Given the description of an element on the screen output the (x, y) to click on. 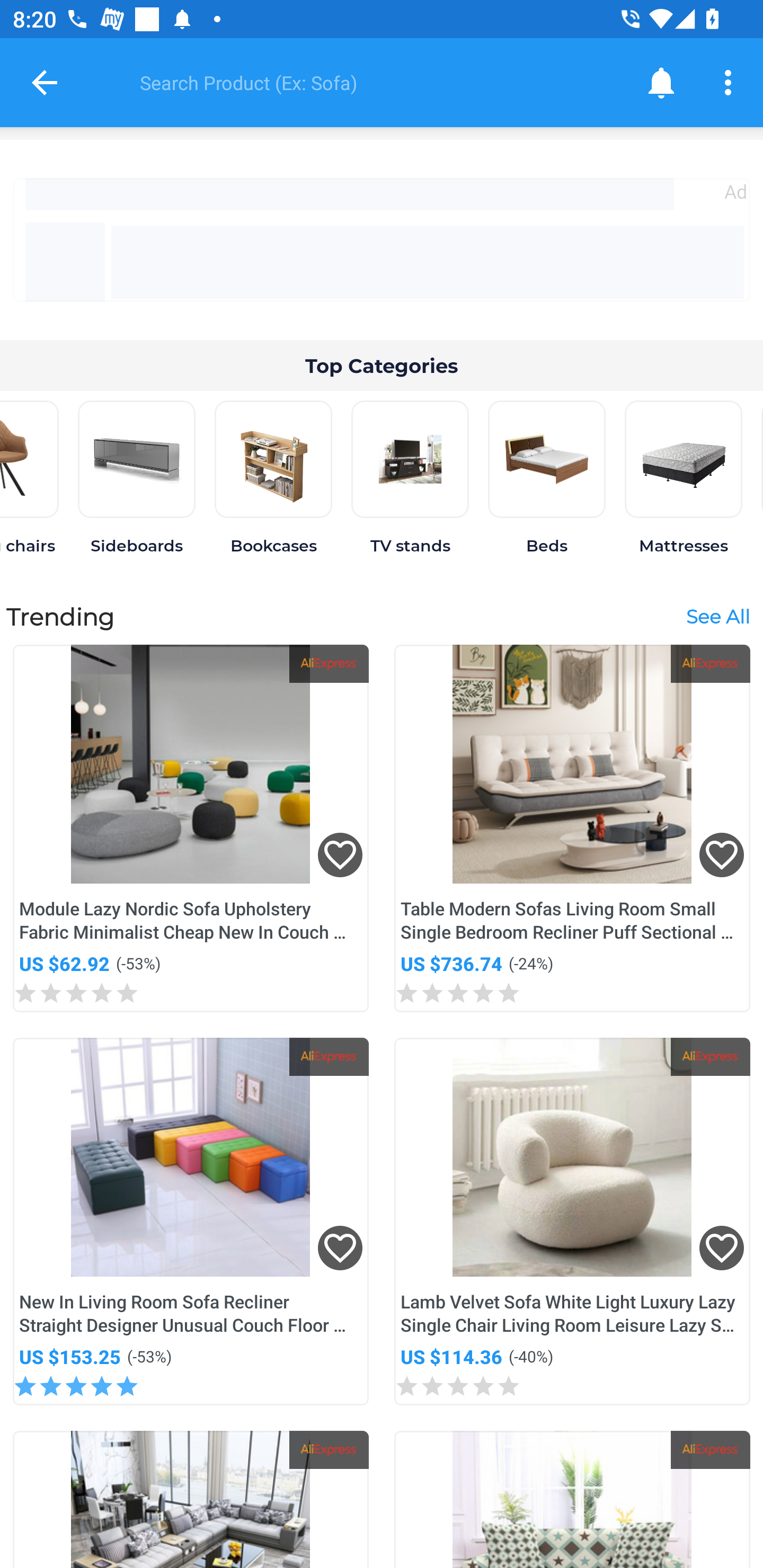
Collapse (44, 82)
More options (731, 81)
Search Product (Ex: Sofa) (368, 82)
See All (717, 615)
